Given the description of an element on the screen output the (x, y) to click on. 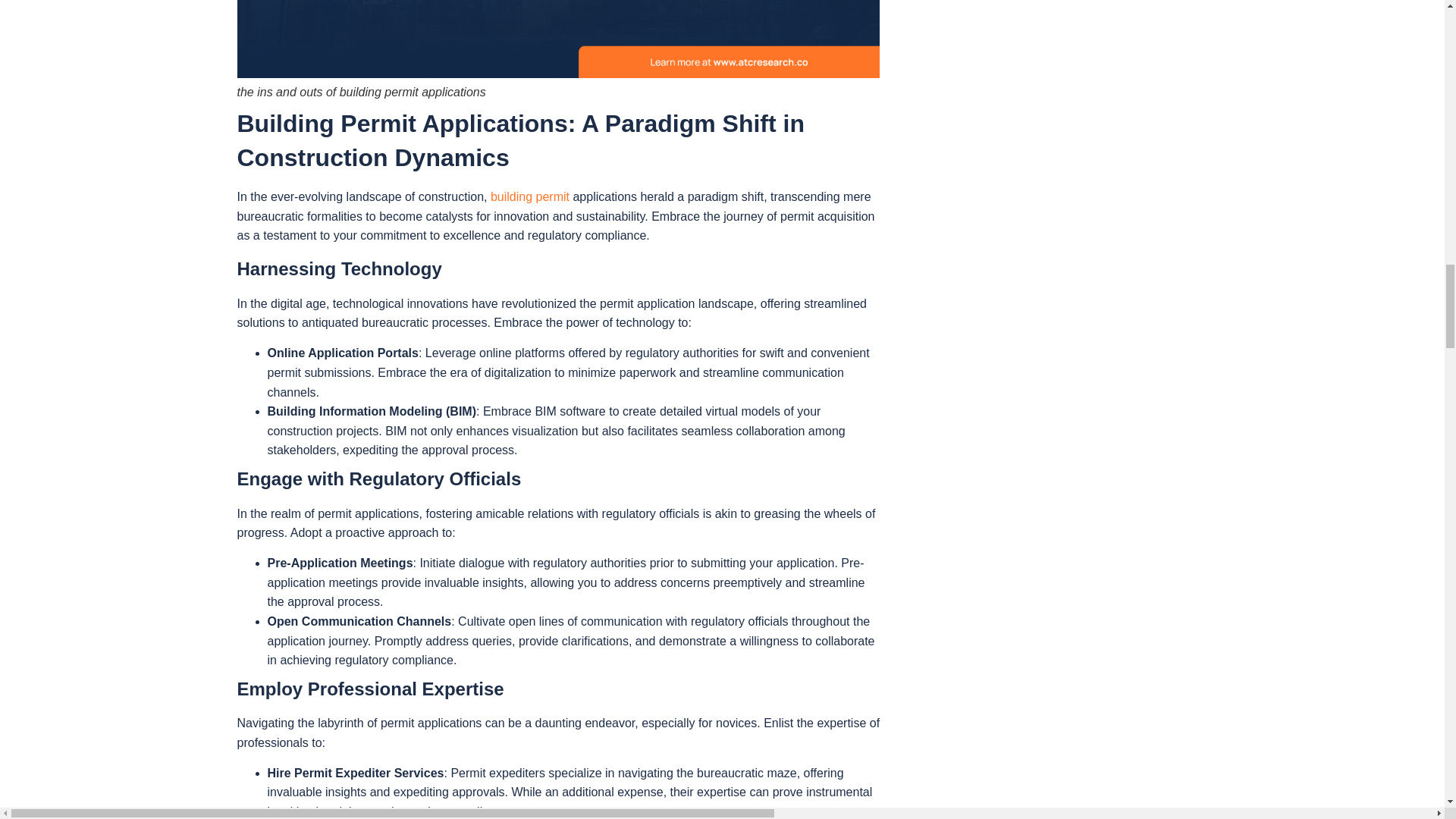
building permit (529, 196)
